Given the description of an element on the screen output the (x, y) to click on. 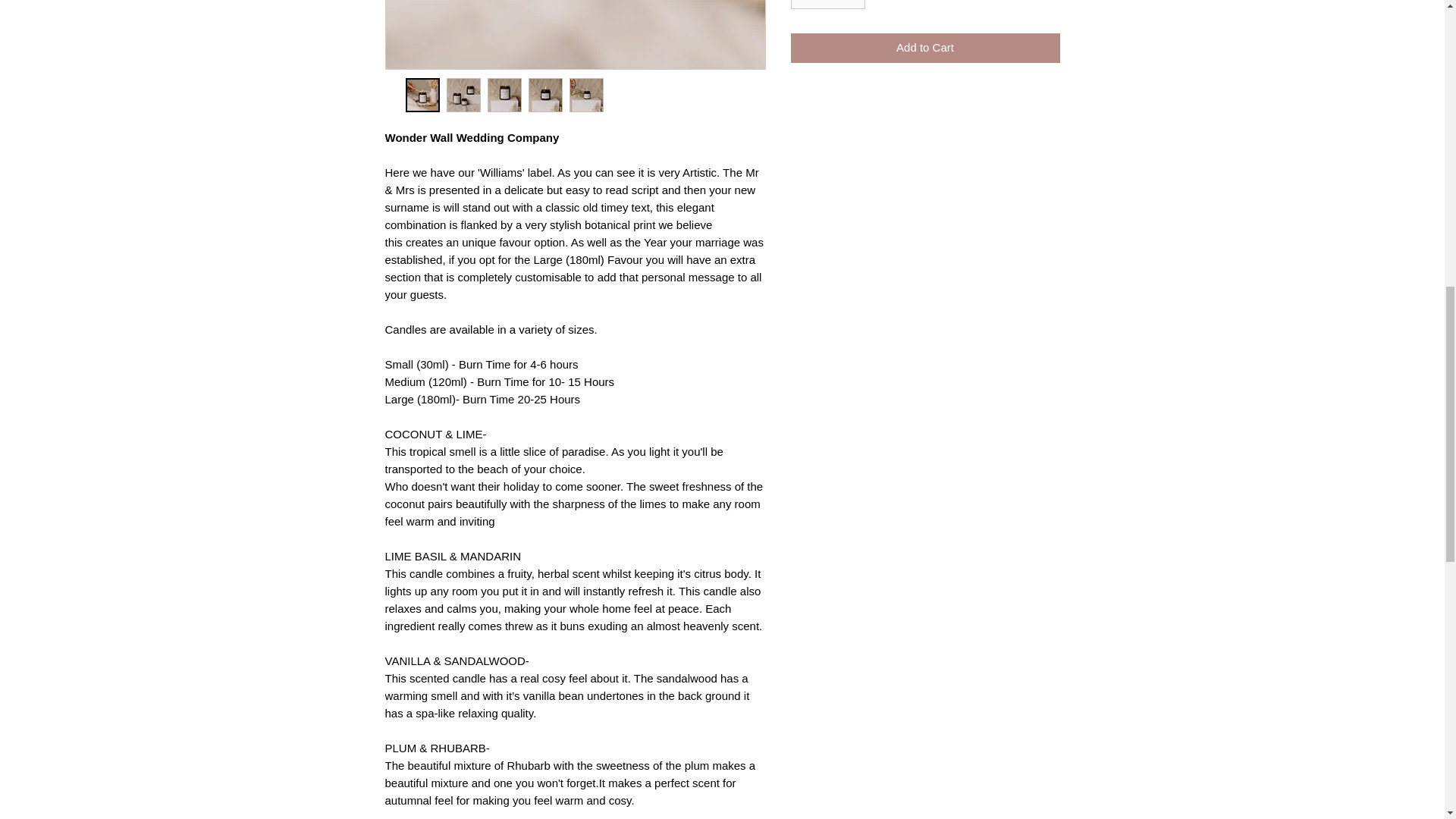
1 (827, 4)
Add to Cart (924, 48)
